Given the description of an element on the screen output the (x, y) to click on. 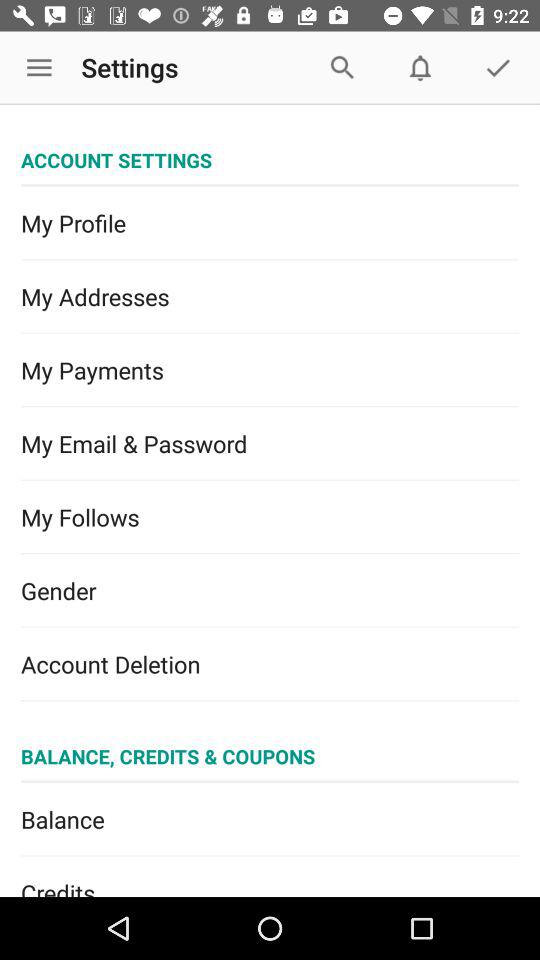
launch the icon below my email & password (270, 517)
